Given the description of an element on the screen output the (x, y) to click on. 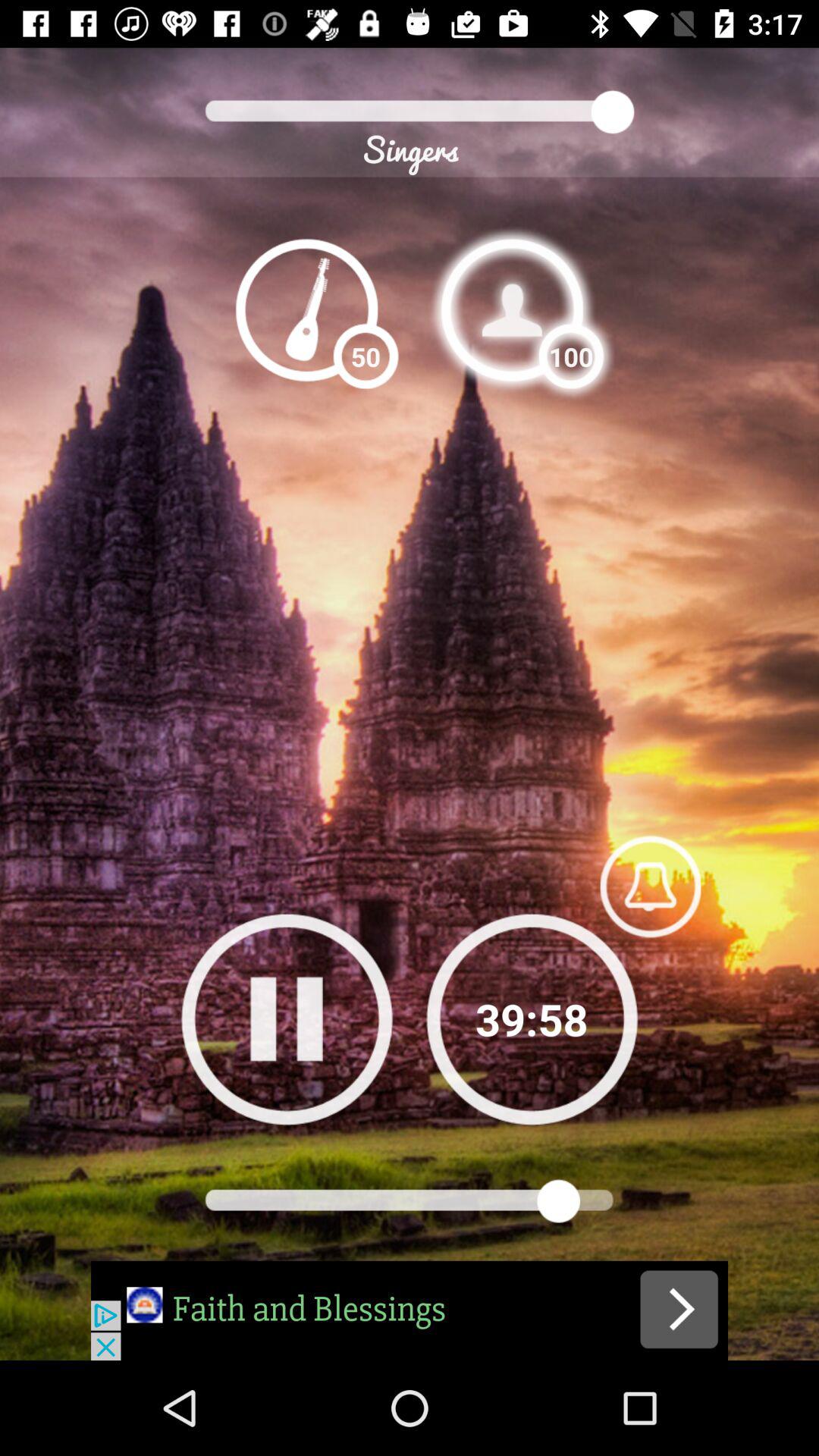
continue playing (531, 1018)
